Given the description of an element on the screen output the (x, y) to click on. 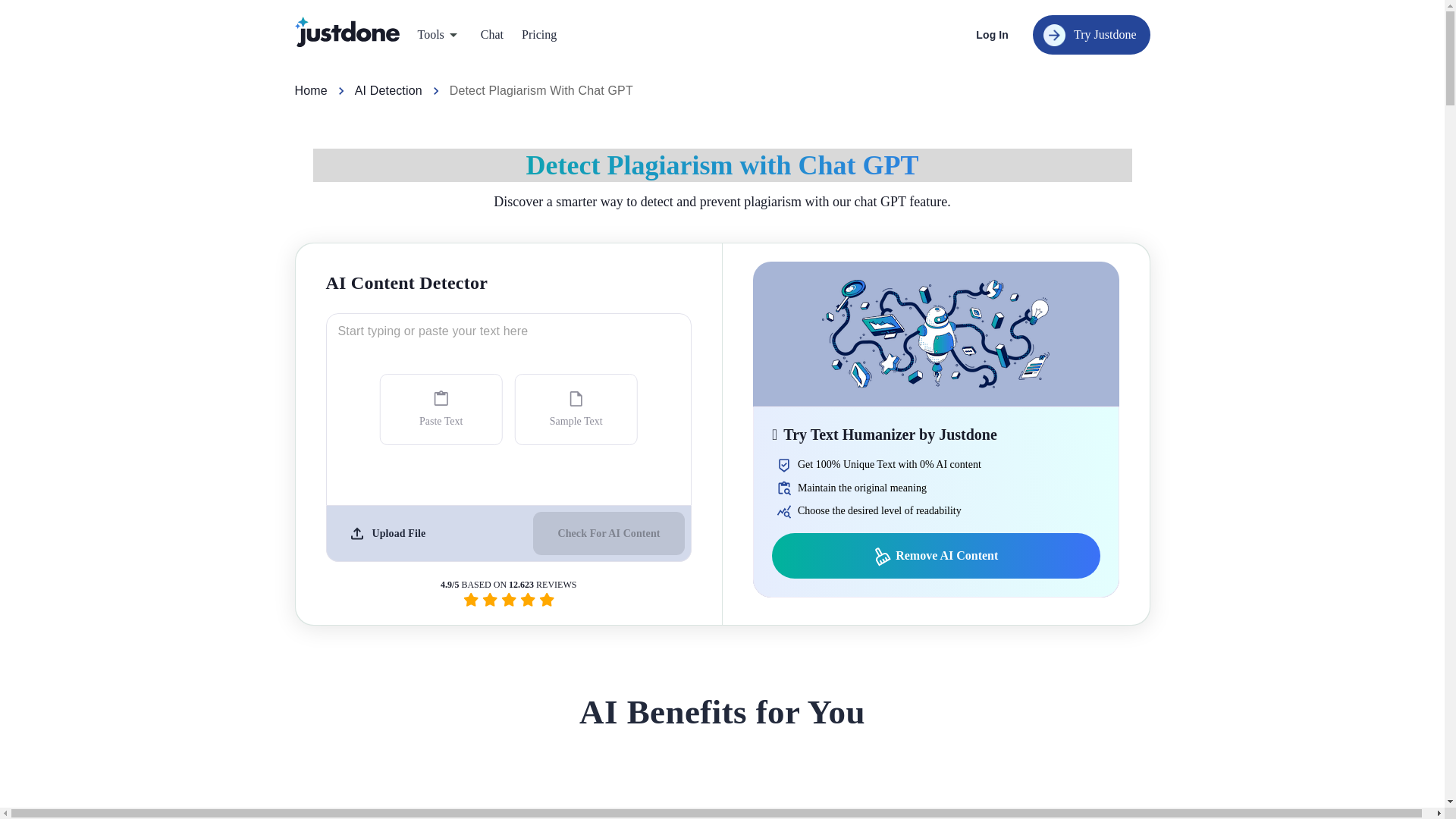
Sample Text (576, 409)
AI Blog Generator (355, 79)
AI Writing Tools (857, 81)
Upload File (385, 533)
Try Justdone (1091, 34)
AI Story Writer (857, 79)
AI Competitor Analysis (703, 79)
Log In (992, 34)
AI Marketing (703, 81)
Pricing (538, 34)
Chat (491, 34)
Check For AI Content (608, 533)
Home (310, 90)
AI Detection (388, 90)
AI Academic Writing (533, 81)
